Given the description of an element on the screen output the (x, y) to click on. 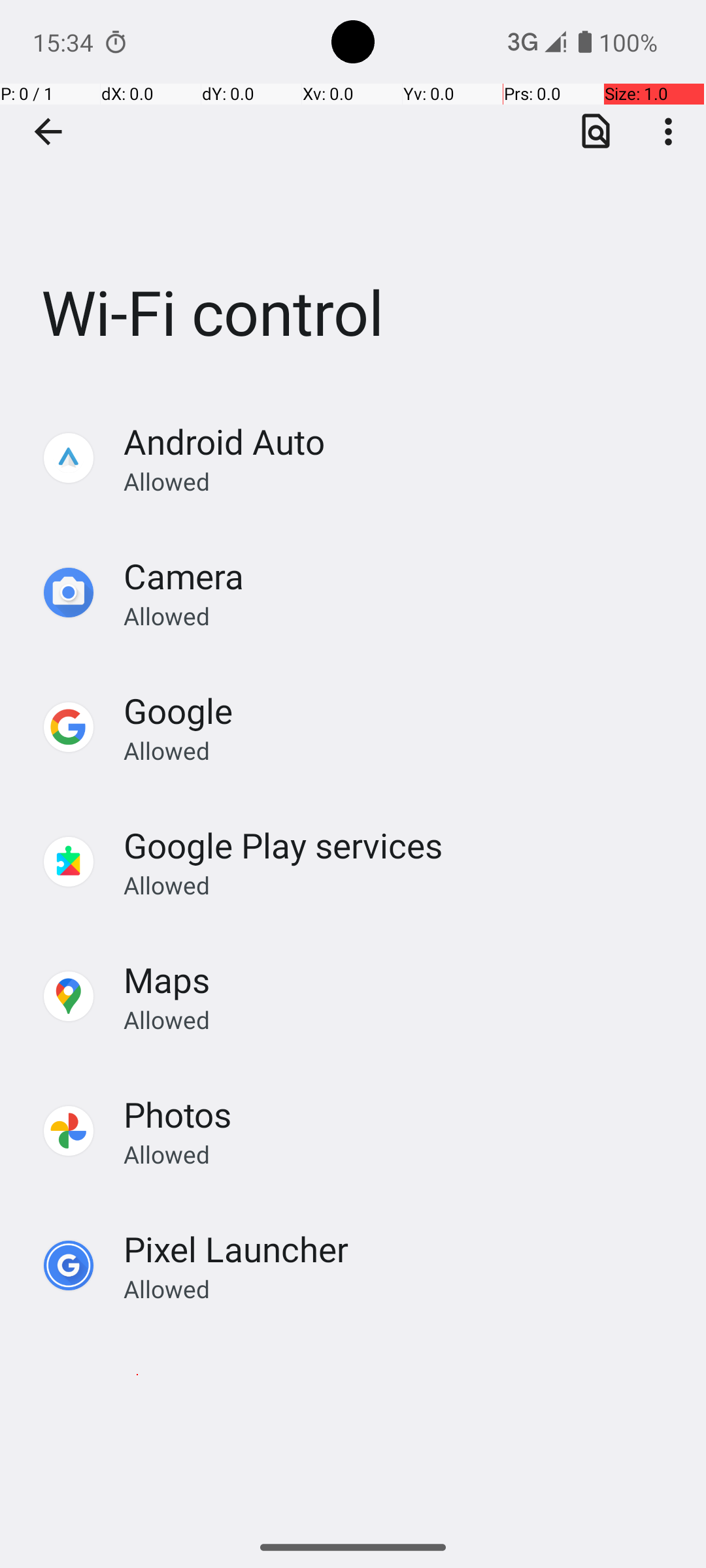
Wi-Fi control Element type: android.widget.FrameLayout (353, 195)
Android Auto Element type: android.widget.TextView (223, 441)
Allowed Element type: android.widget.TextView (400, 480)
Camera Element type: android.widget.TextView (183, 575)
Google Element type: android.widget.TextView (177, 710)
Google Play services Element type: android.widget.TextView (283, 844)
Maps Element type: android.widget.TextView (166, 979)
Pixel Launcher Element type: android.widget.TextView (236, 1248)
